Given the description of an element on the screen output the (x, y) to click on. 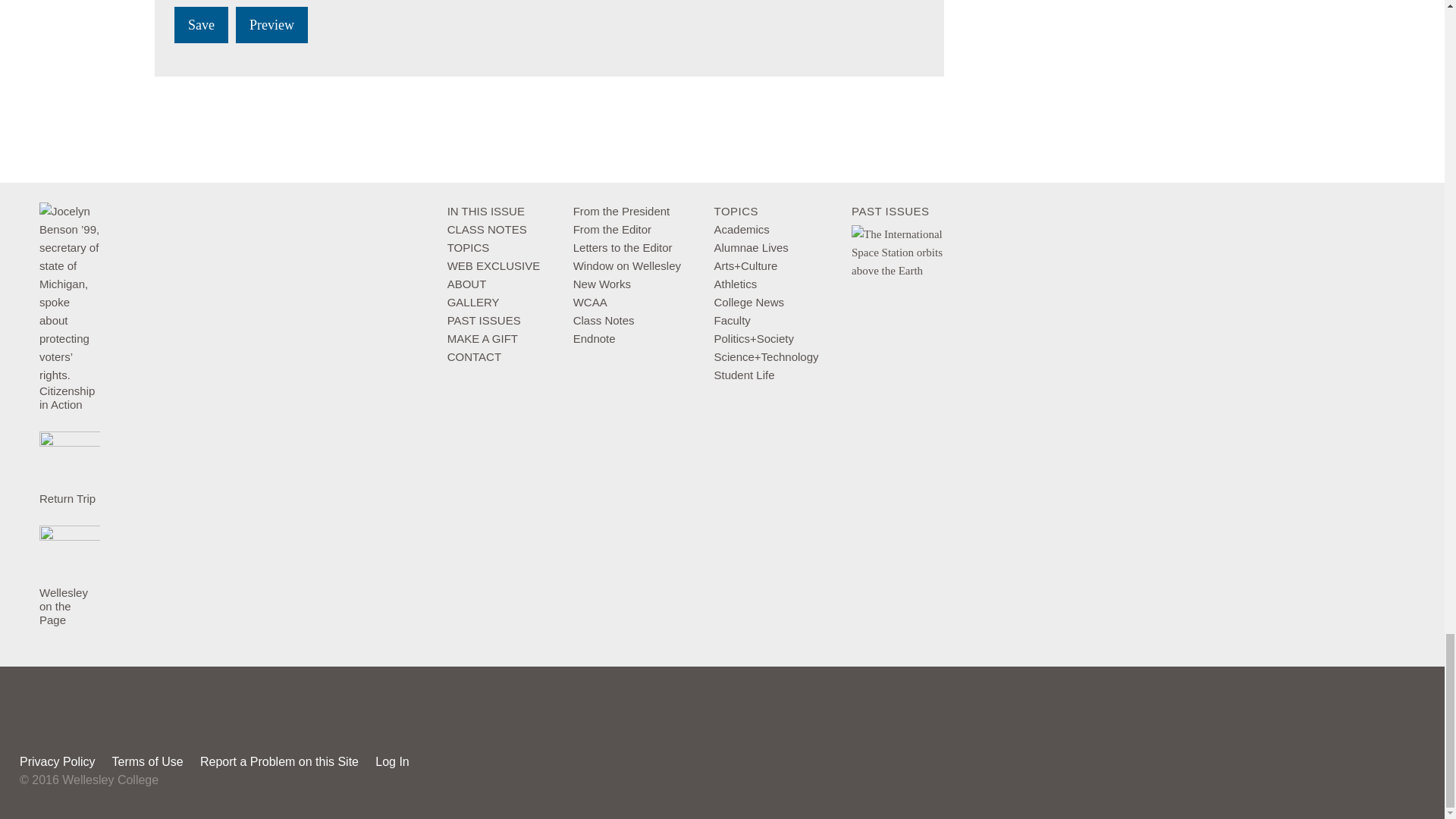
Save (201, 24)
Preview (271, 24)
